Given the description of an element on the screen output the (x, y) to click on. 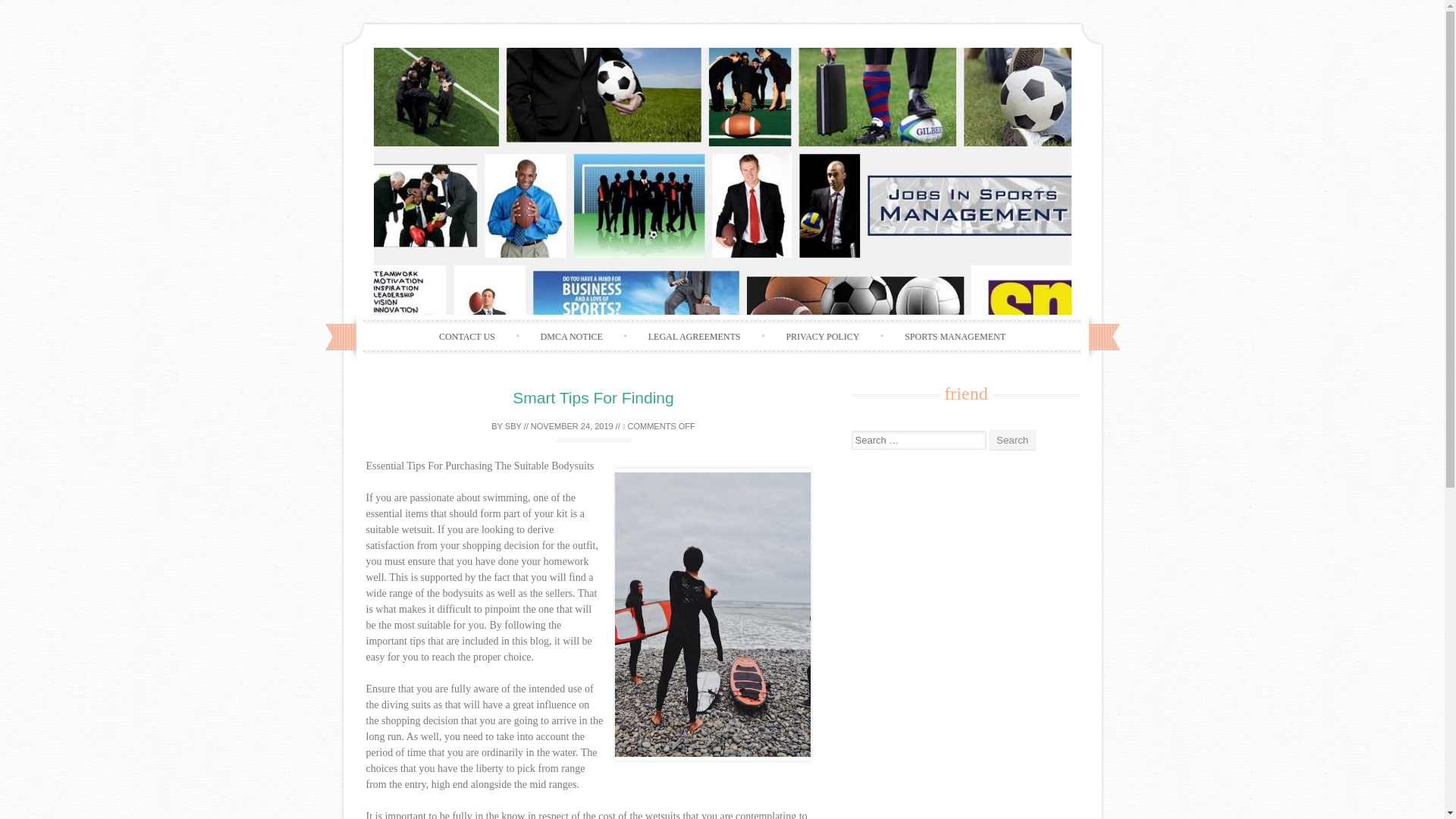
View all posts by sby (513, 425)
PRIVACY POLICY (822, 336)
COMMENTS OFF (659, 425)
Smart Tips For Finding (592, 397)
CONTACT US (466, 336)
Search (1011, 439)
Search (1011, 439)
NOVEMBER 24, 2019 (571, 425)
2:56 pm (571, 425)
SPORTS MANAGEMENT (954, 336)
LEGAL AGREEMENTS (694, 336)
DMCA NOTICE (571, 336)
Search (1011, 439)
SBY (513, 425)
